Given the description of an element on the screen output the (x, y) to click on. 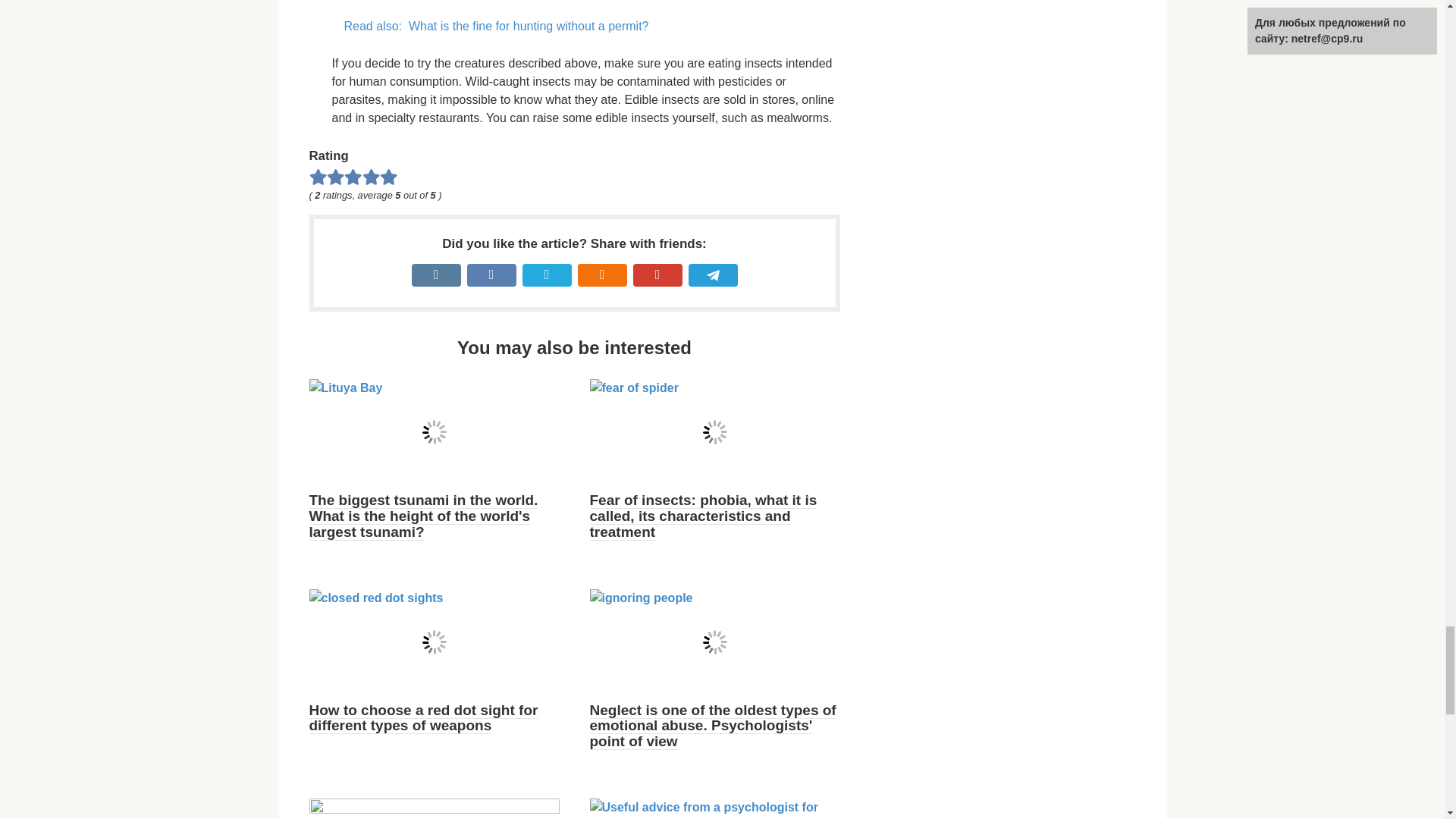
Read also:  What is the fine for hunting without a permit? (585, 26)
How to choose a red dot sight for different types of weapons (423, 717)
